Given the description of an element on the screen output the (x, y) to click on. 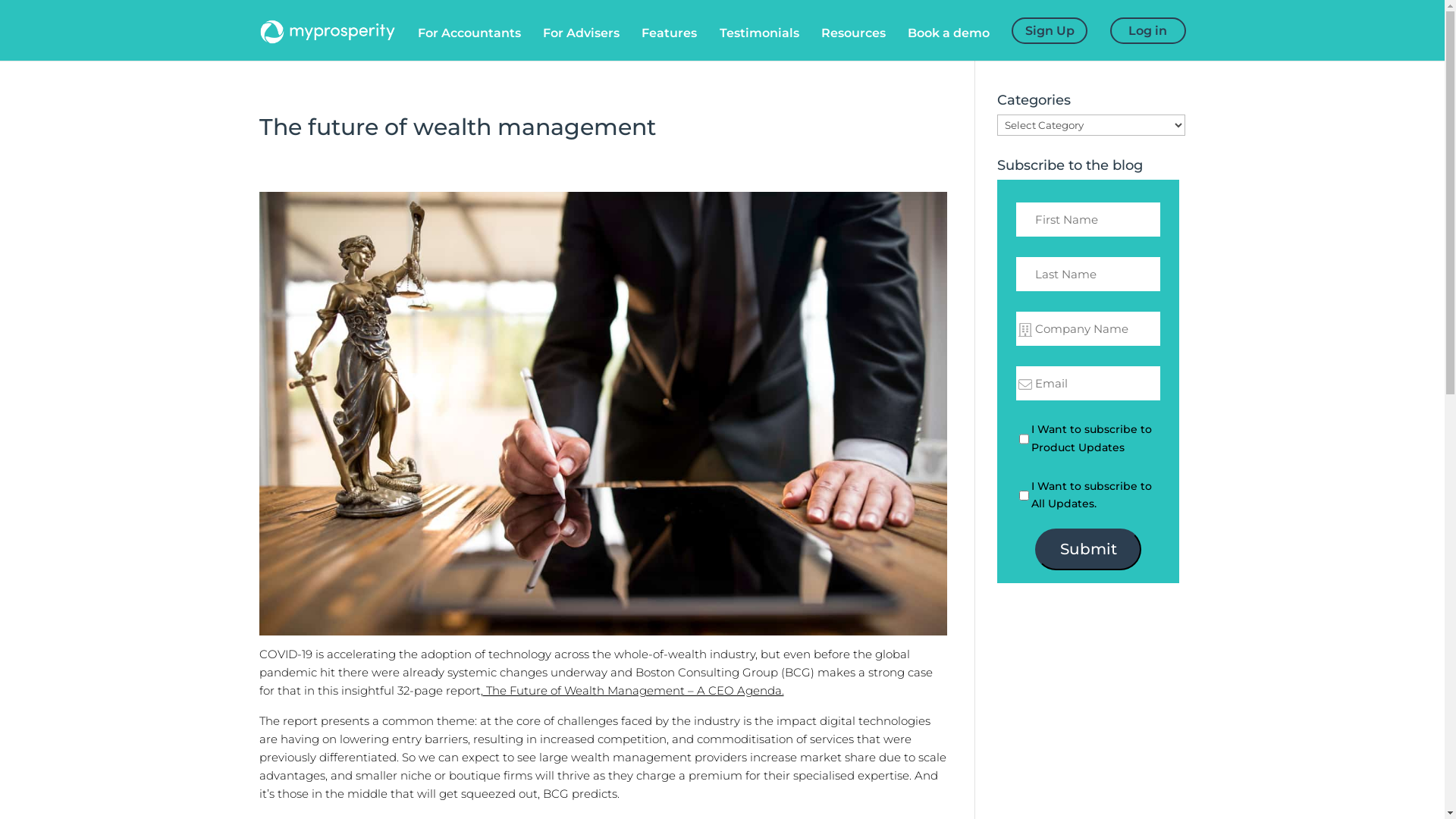
Log in Element type: text (1147, 42)
Book a demo Element type: text (948, 45)
Resources Element type: text (853, 45)
Submit Element type: text (1088, 549)
Search Element type: text (26, 15)
For Advisers Element type: text (580, 45)
For Accountants Element type: text (468, 45)
Sign Up Element type: text (1049, 42)
Testimonials Element type: text (758, 45)
Features Element type: text (668, 45)
